Given the description of an element on the screen output the (x, y) to click on. 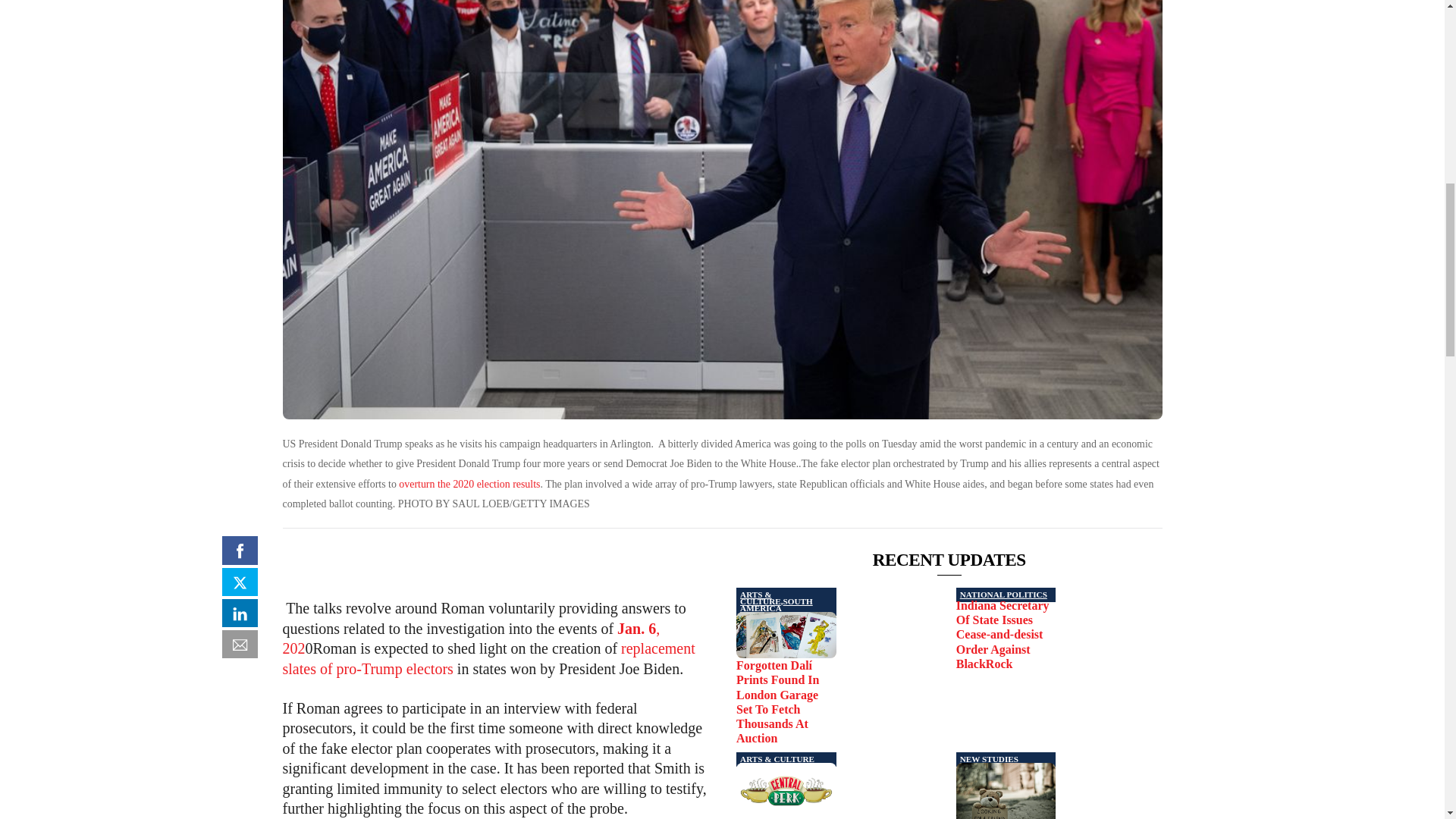
c018db69-19d0-4aa6-95d6-4f7b823d8819 (785, 634)
b2e67dd6-9120-4c78-b515-b1494b78b190 (785, 790)
6922d1f8-2297-471f-85ad-7a11546c8820 (1006, 790)
